Given the description of an element on the screen output the (x, y) to click on. 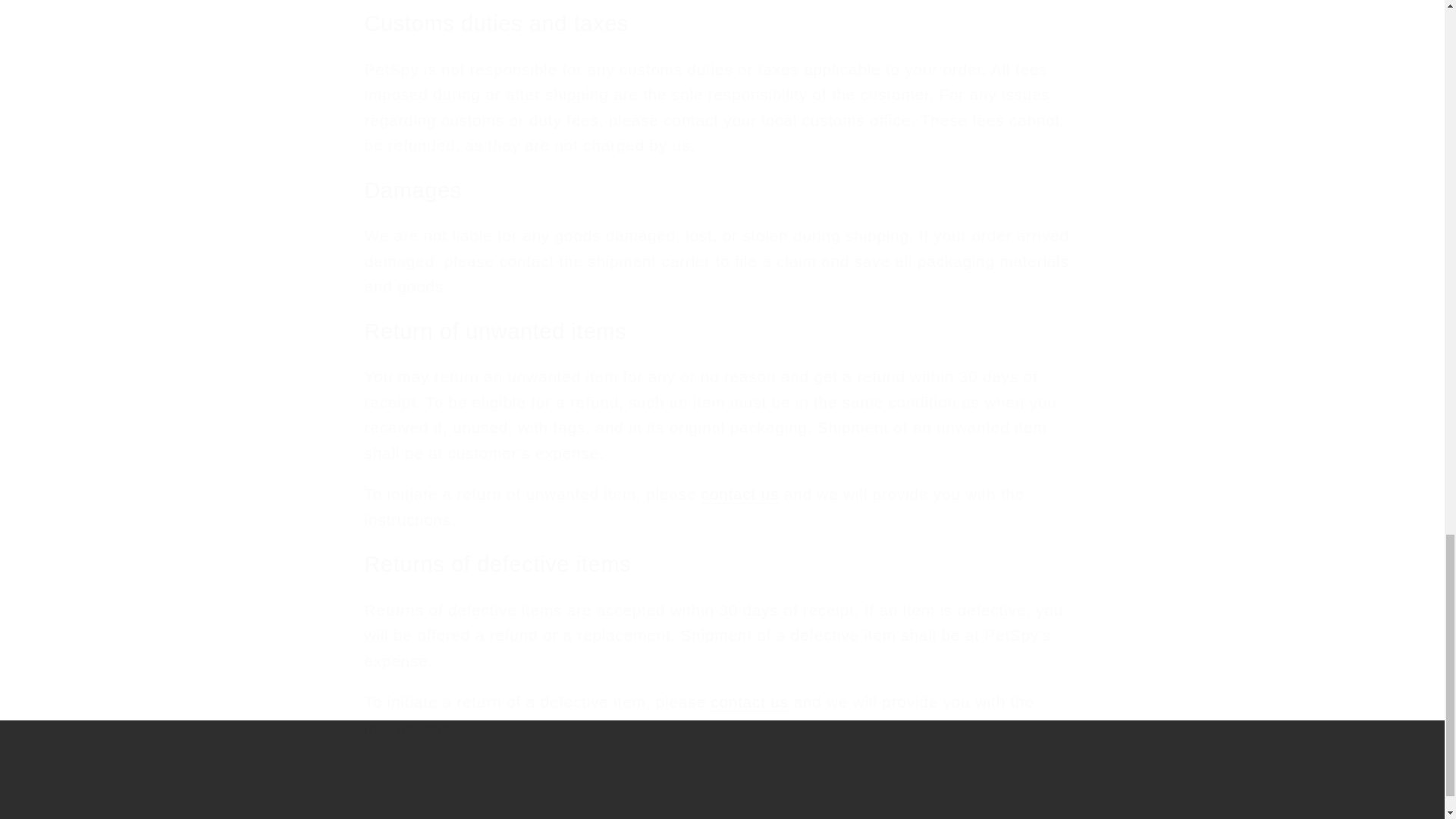
Click to visit page with Contact Form (739, 493)
Click to visit page with Contact Form (749, 701)
